Given the description of an element on the screen output the (x, y) to click on. 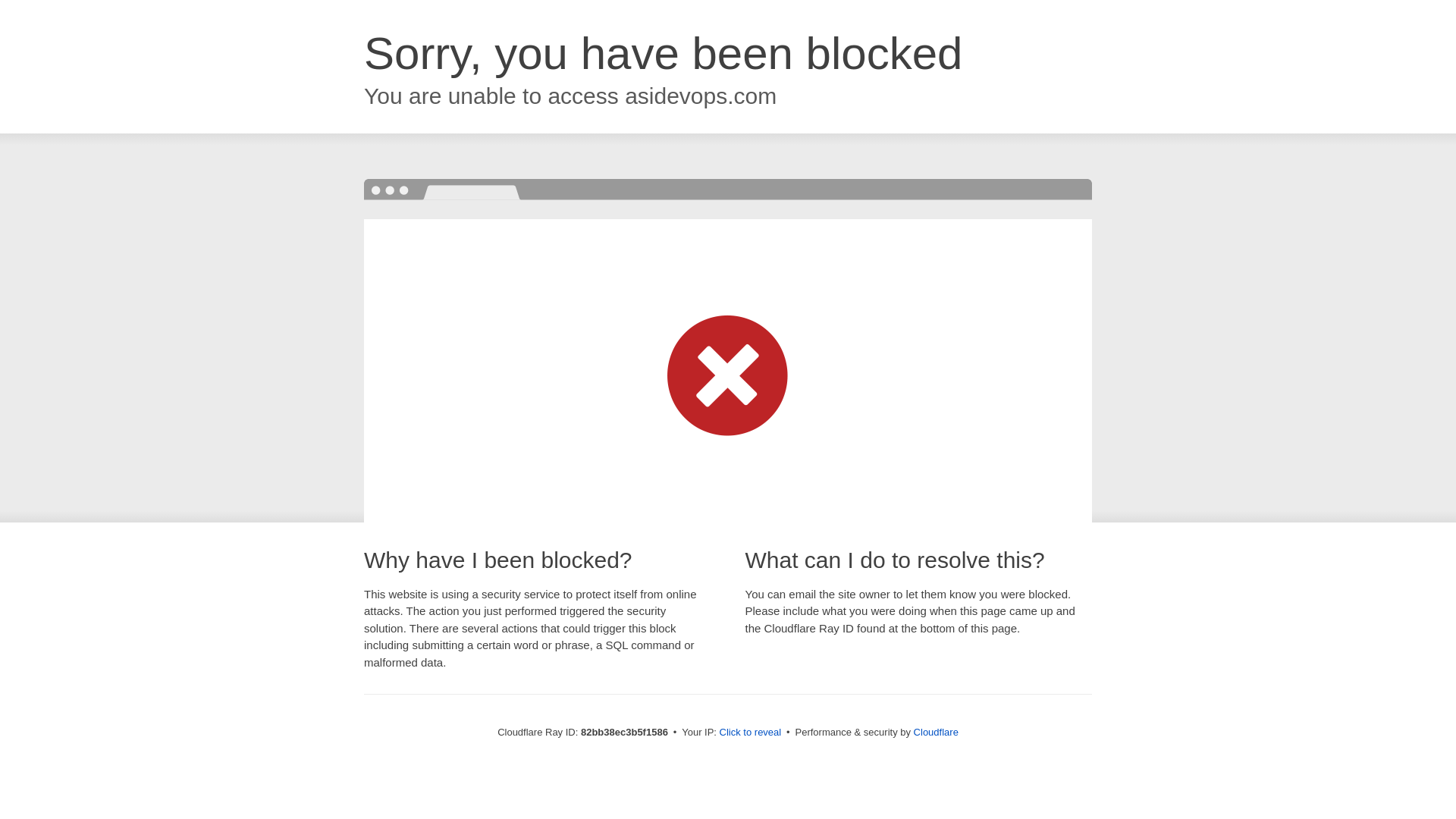
Click to reveal Element type: text (750, 732)
Cloudflare Element type: text (935, 731)
